Given the description of an element on the screen output the (x, y) to click on. 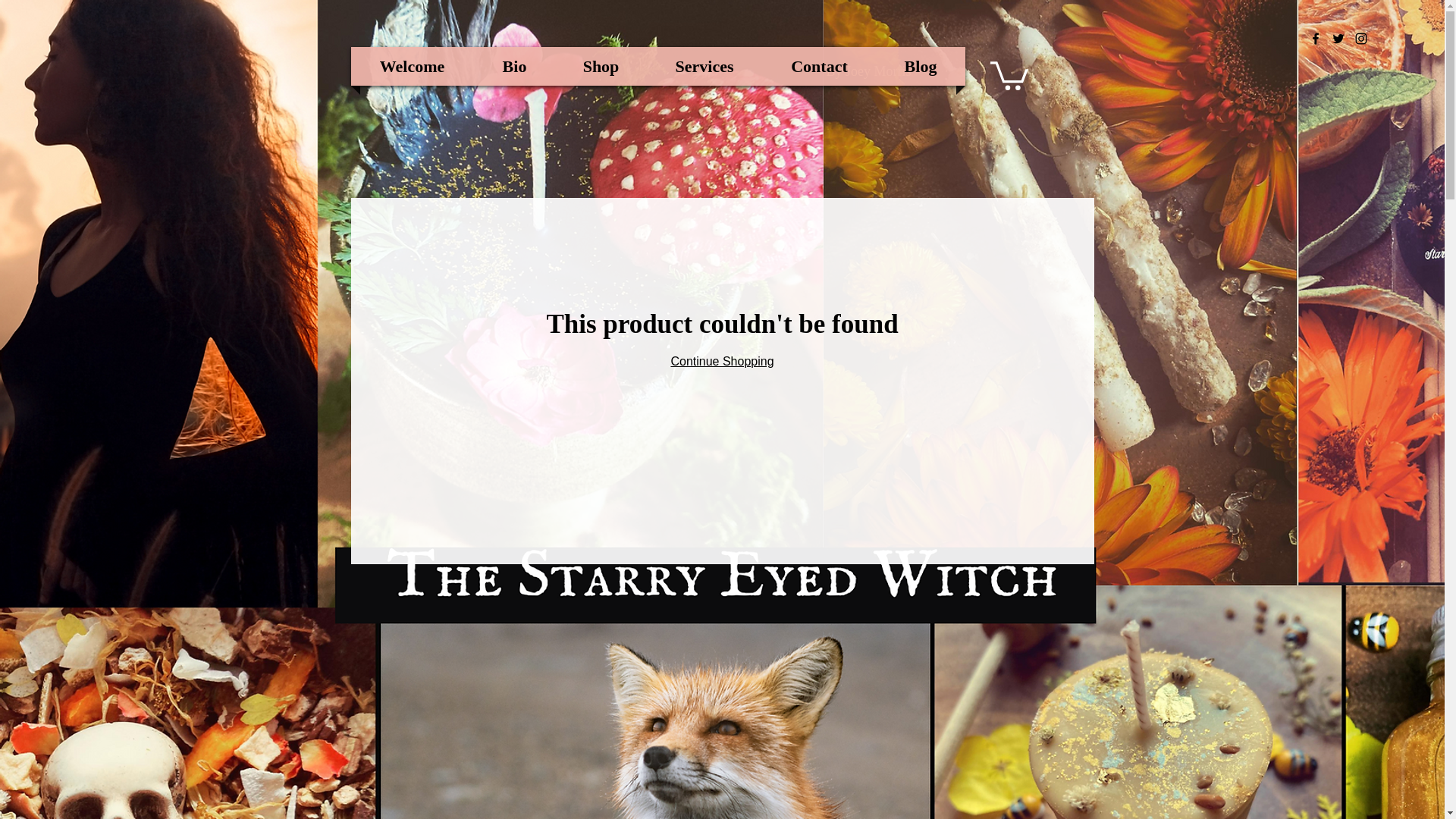
Blog (920, 65)
Continue Shopping (721, 360)
Contact (819, 65)
Bio (513, 65)
Welcome (411, 65)
Services (703, 65)
Shop (600, 65)
